Given the description of an element on the screen output the (x, y) to click on. 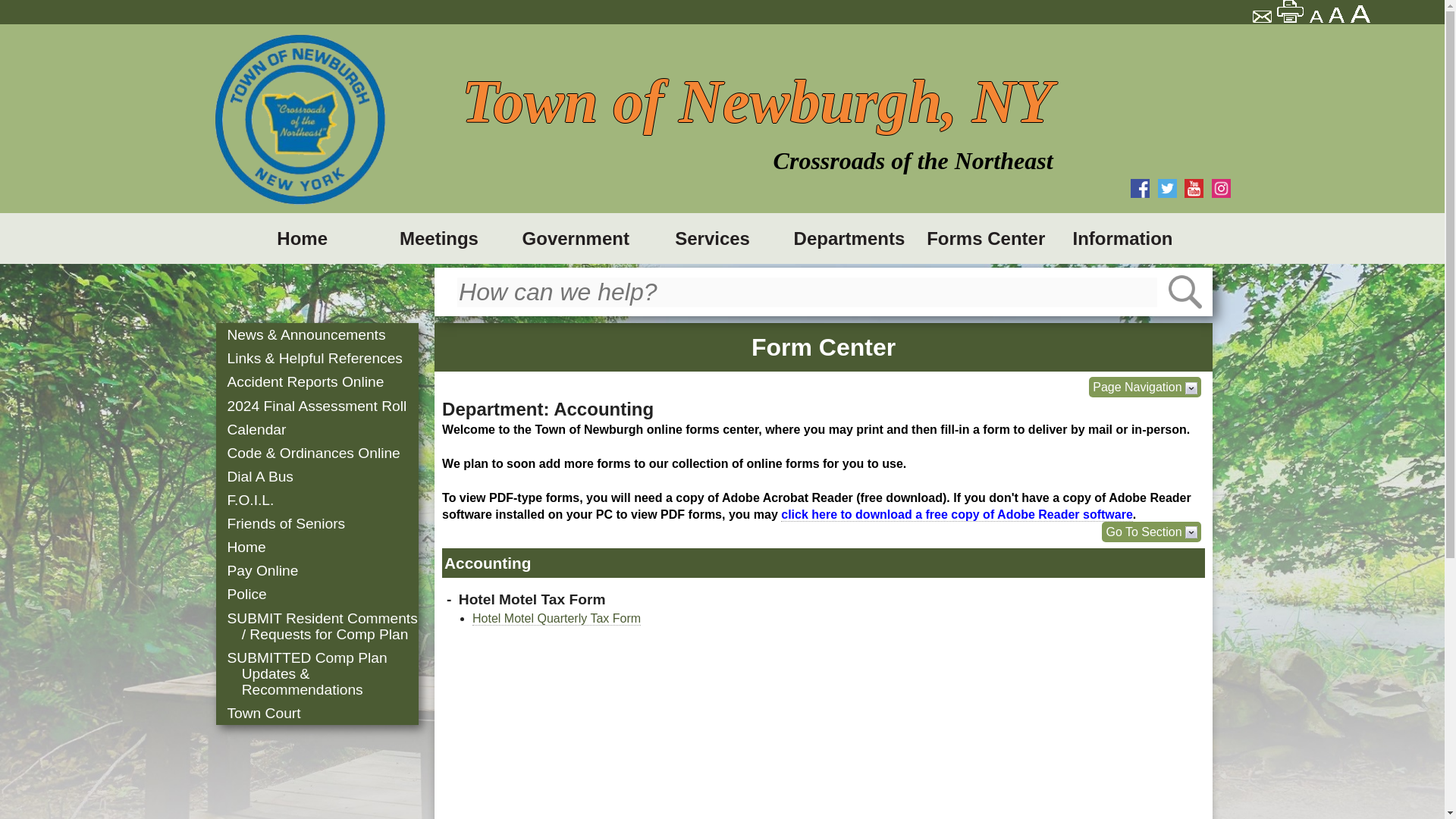
Medium font size (1336, 14)
Visit our YouTube channel (1194, 188)
Meetings (438, 237)
Visit our Facebook page (1140, 188)
Visit our Instagram page (1220, 188)
Follow us on Twitter (1166, 188)
Print page (1291, 11)
Large font size (1362, 13)
Home (300, 237)
Small font size (1316, 16)
Government (574, 237)
Email page (1263, 18)
Search Box (756, 118)
